Given the description of an element on the screen output the (x, y) to click on. 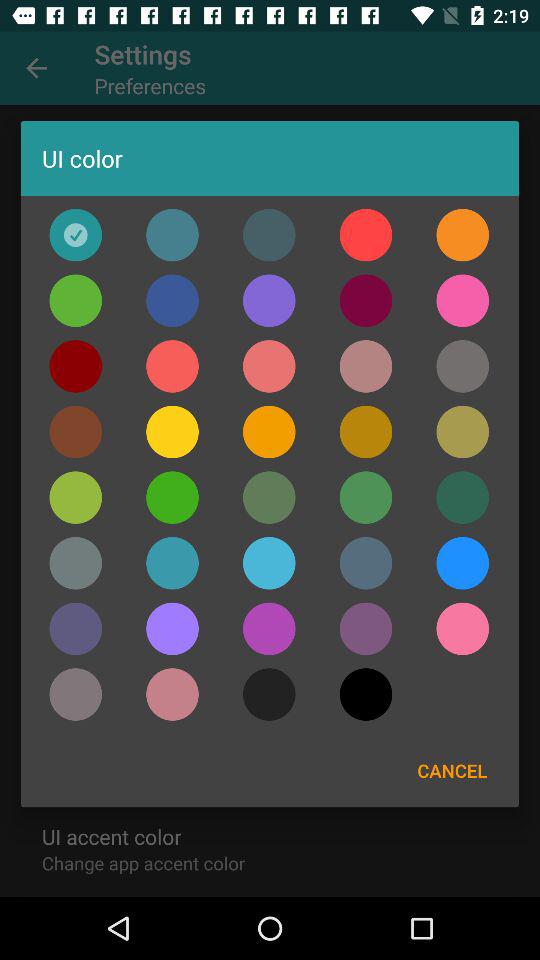
selects the color dark grey (269, 694)
